Given the description of an element on the screen output the (x, y) to click on. 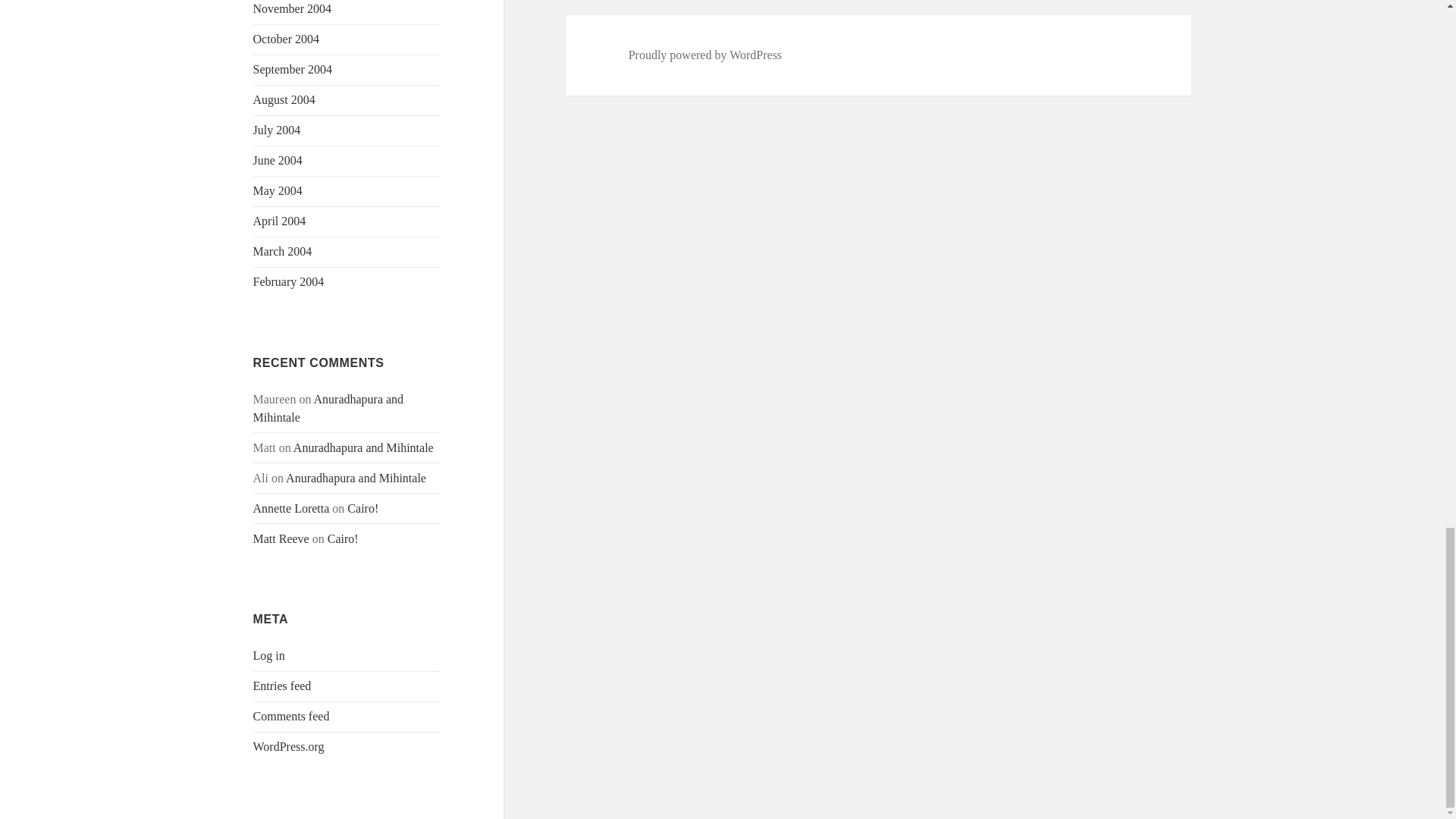
October 2004 (286, 38)
November 2004 (292, 8)
August 2004 (284, 99)
September 2004 (292, 69)
